Given the description of an element on the screen output the (x, y) to click on. 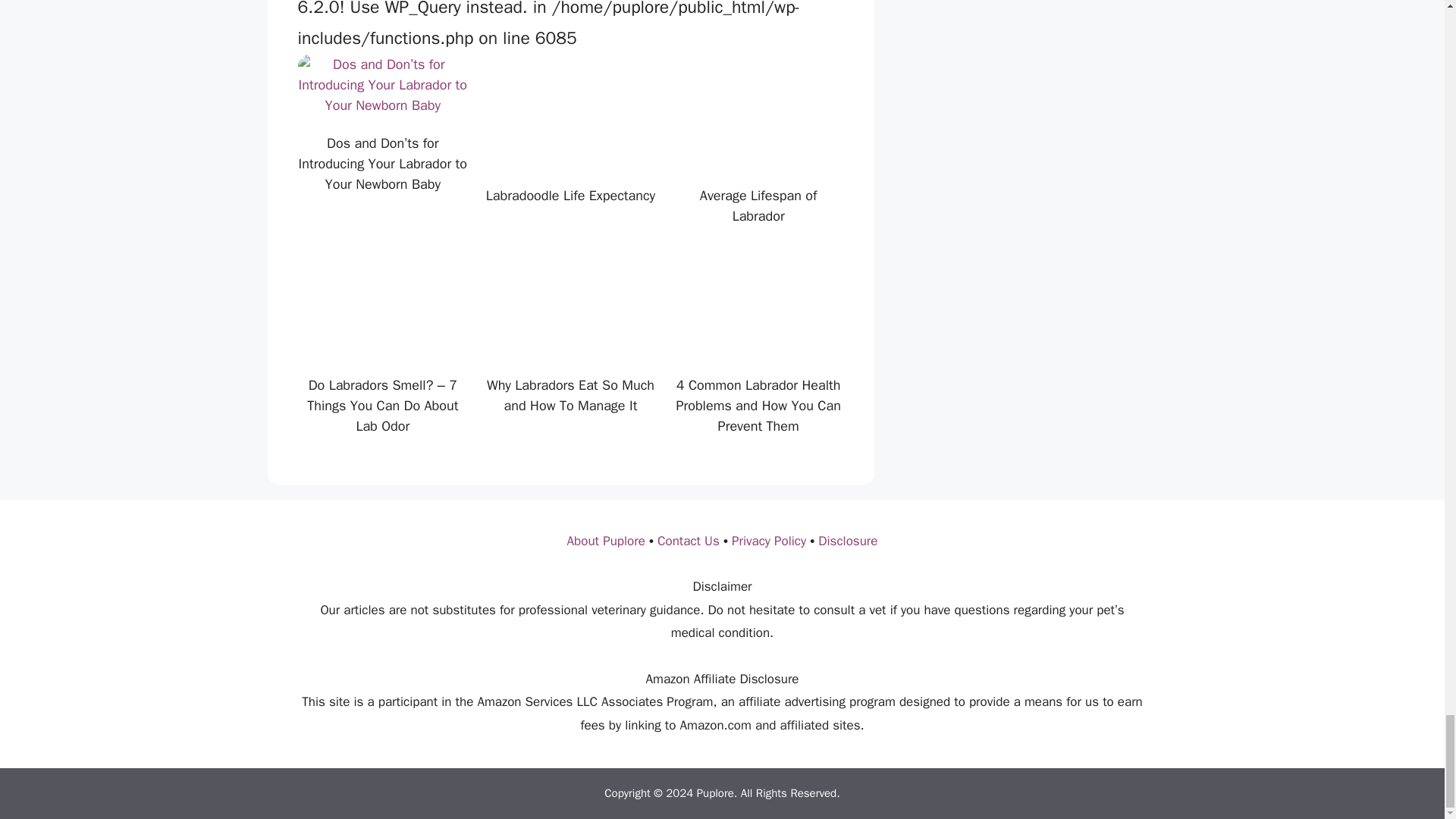
Why Labradors Eat So Much and How To Manage It (570, 343)
Labradoodle Life Expectancy (570, 153)
Average Lifespan of Labrador (758, 153)
